Given the description of an element on the screen output the (x, y) to click on. 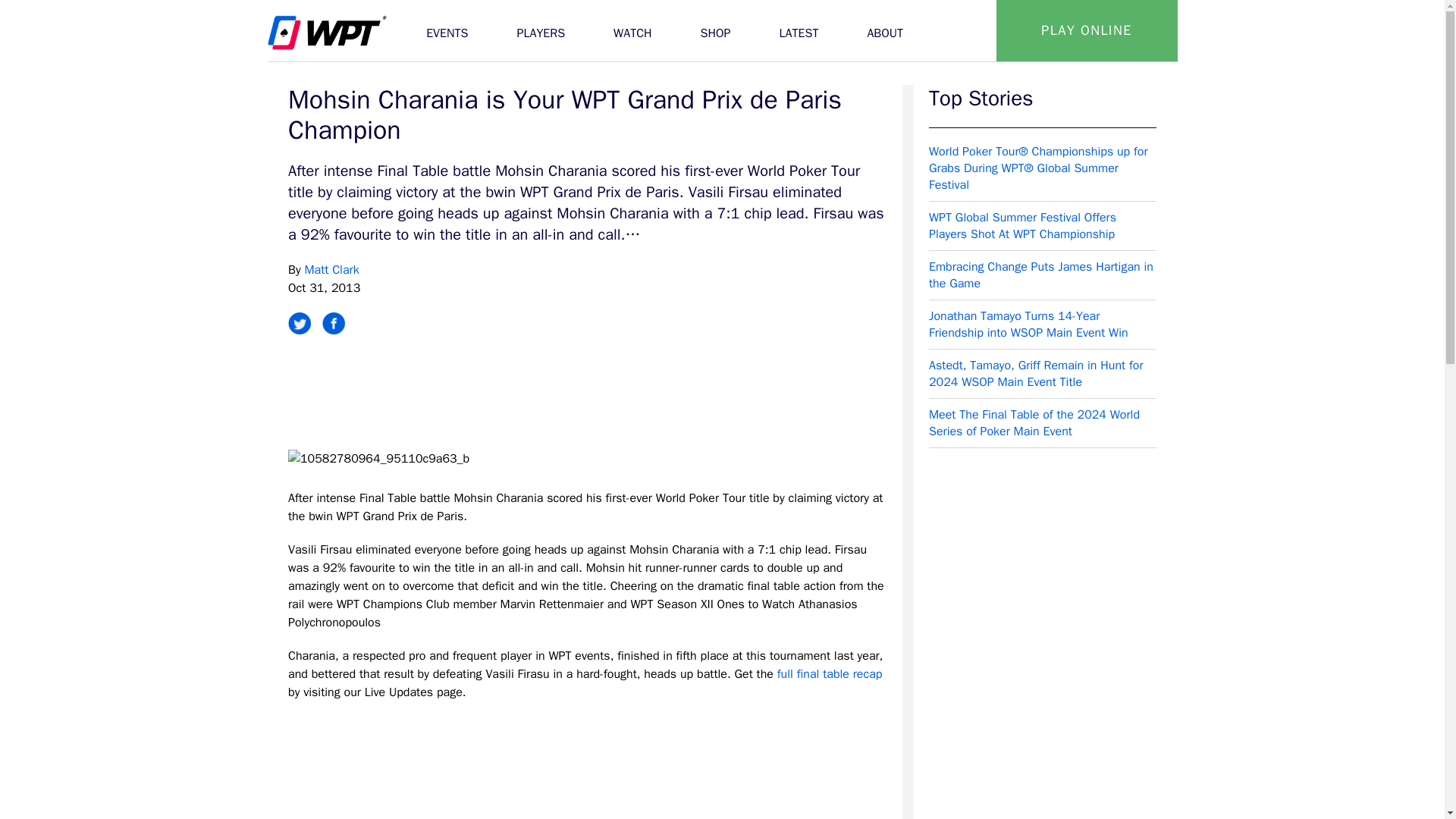
PLAY ONLINE (1086, 30)
LATEST (799, 30)
ABOUT (885, 30)
full final table recap (829, 673)
3rd party ad content (1042, 791)
3rd party ad content (587, 394)
Embracing Change Puts James Hartigan in the Game (1042, 275)
EVENTS (446, 30)
WATCH (633, 30)
SHOP (716, 30)
PLAYERS (540, 30)
